Given the description of an element on the screen output the (x, y) to click on. 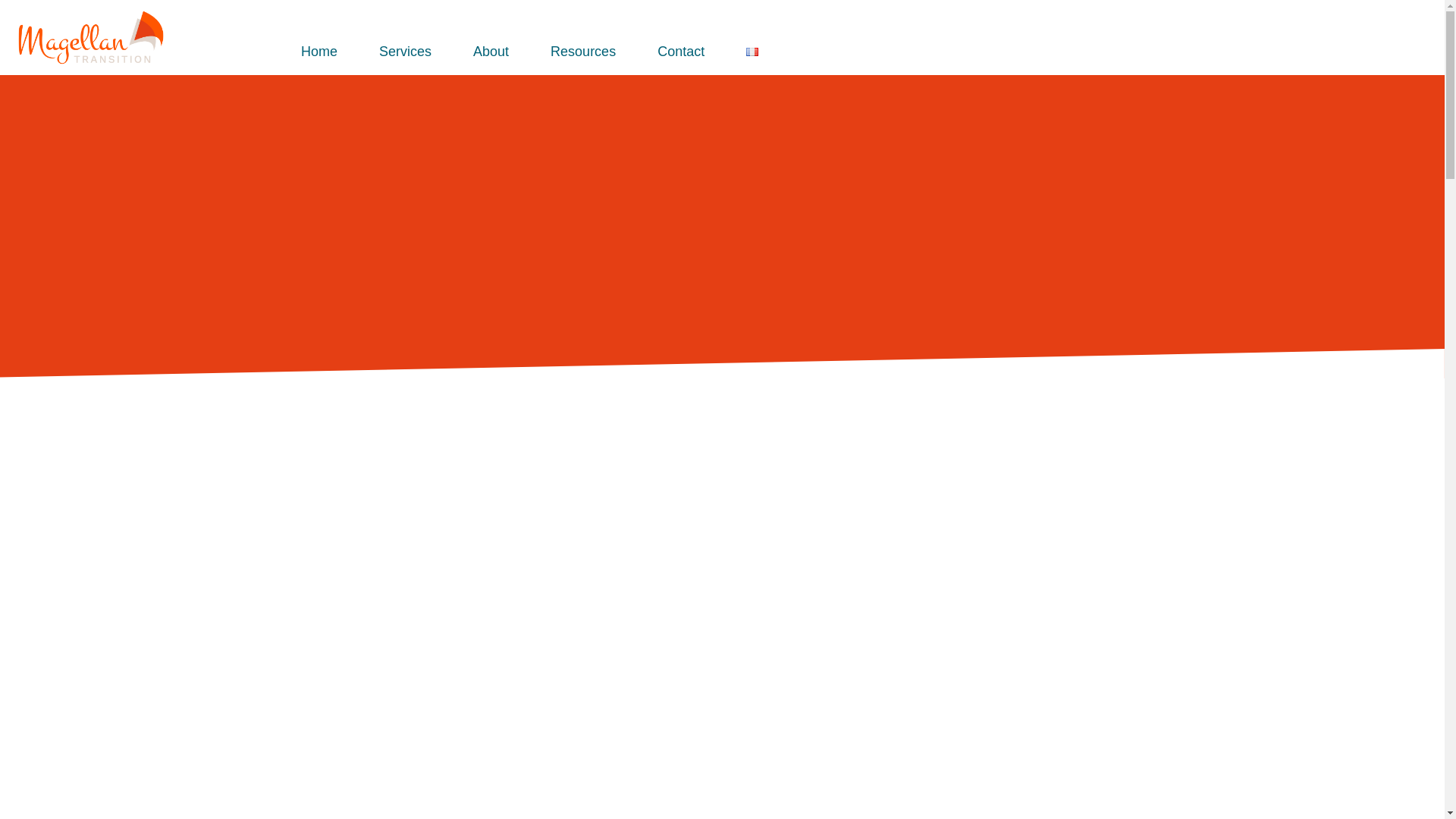
Services (405, 51)
Home (319, 51)
About (490, 51)
Resources (583, 51)
Contact (680, 51)
